Given the description of an element on the screen output the (x, y) to click on. 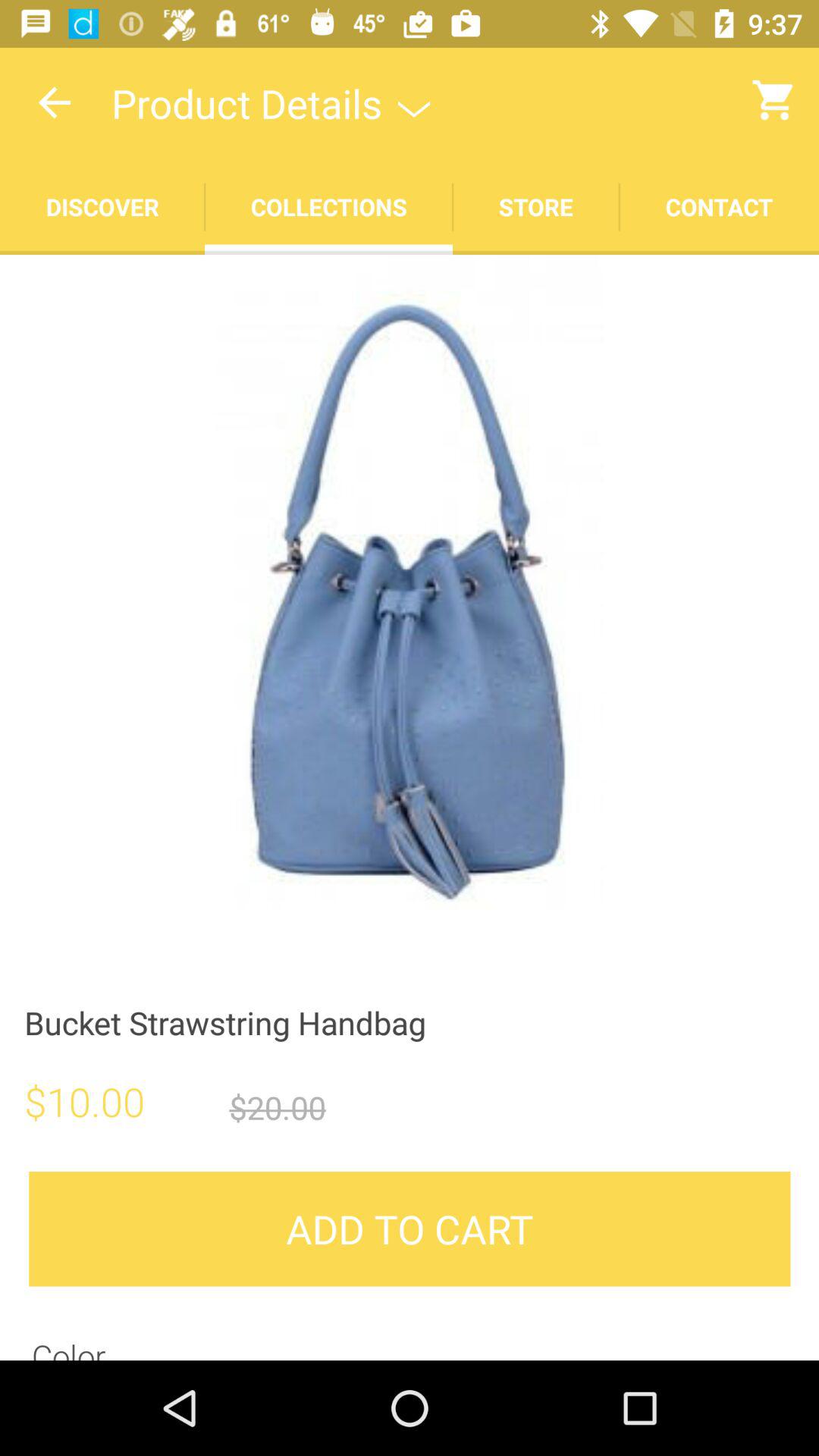
click the icon which is at the top right of the page (775, 99)
move to contact tab (719, 206)
click on the down arrow to view product details (413, 103)
